Given the description of an element on the screen output the (x, y) to click on. 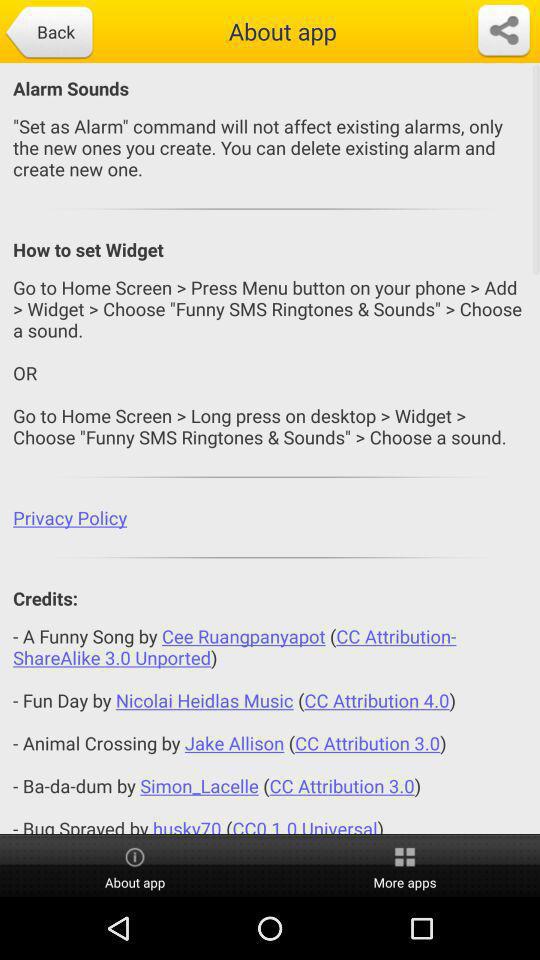
press icon next to the about app (48, 33)
